Given the description of an element on the screen output the (x, y) to click on. 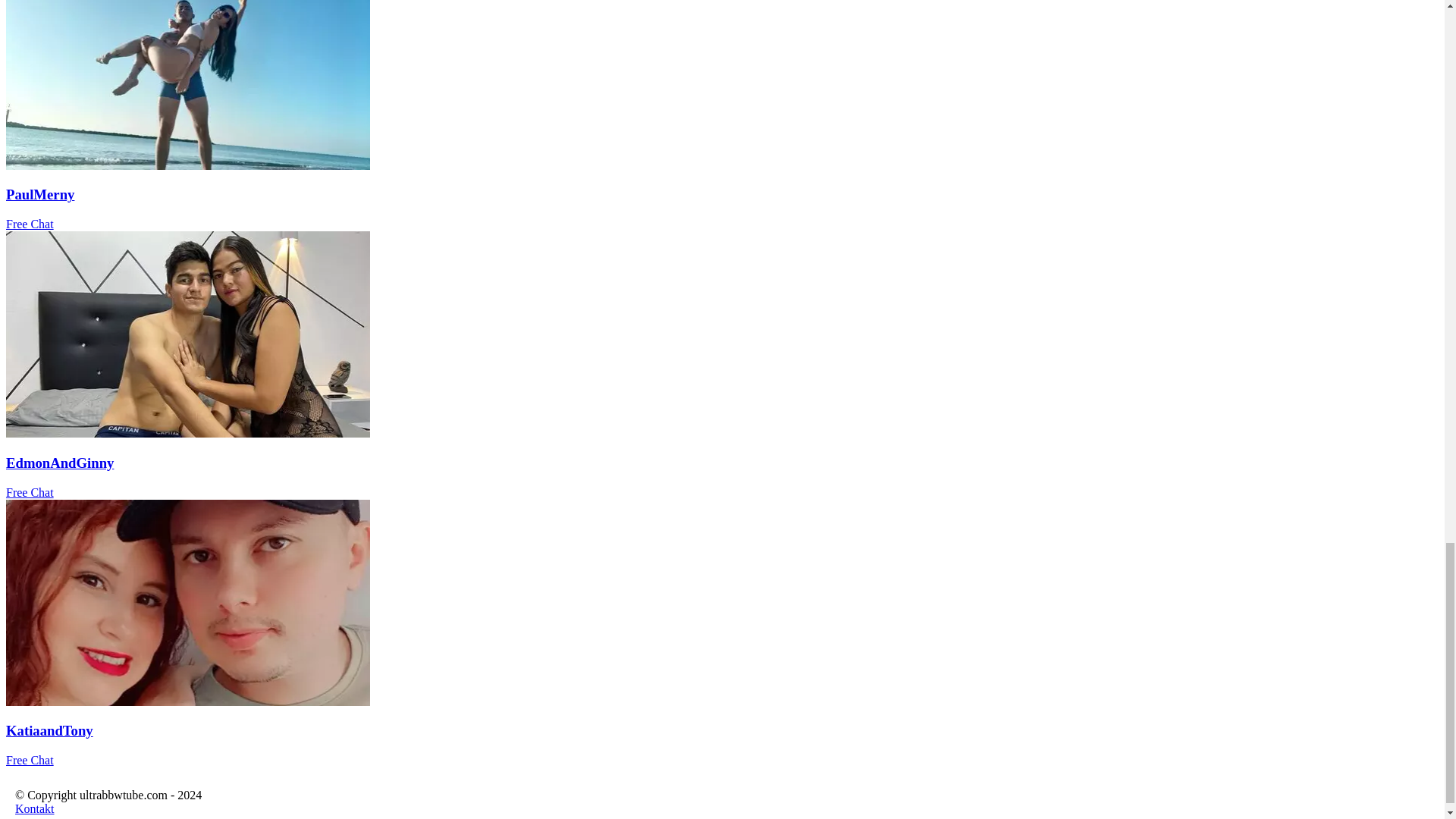
PaulMerny's live cam (187, 164)
Kontakt (34, 808)
KatiaandTony's live cam (187, 701)
EdmonAndGinny's live cam (187, 432)
